Given the description of an element on the screen output the (x, y) to click on. 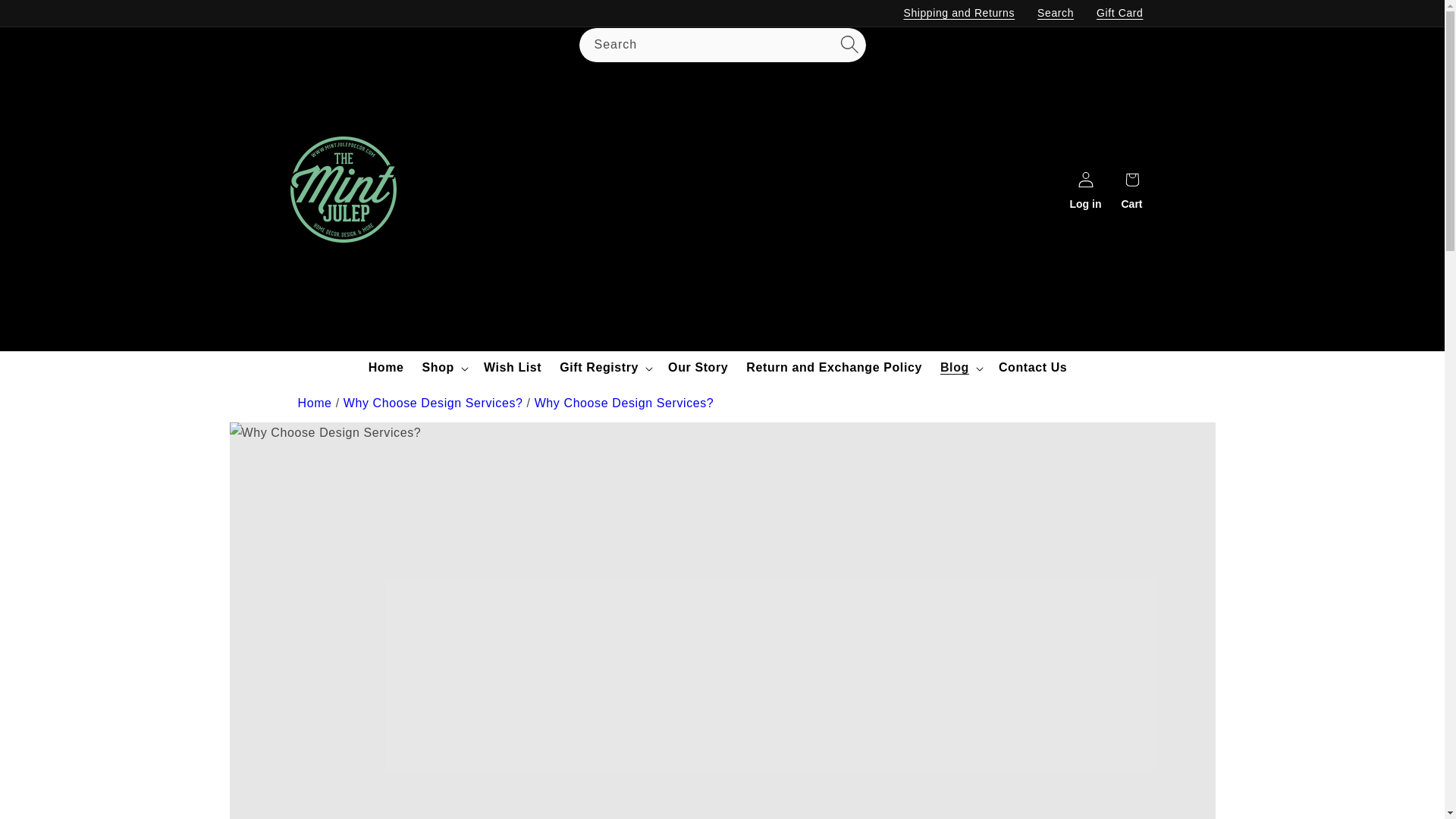
Gift Card (1119, 13)
Skip to content (45, 17)
Home (314, 402)
Search (1055, 13)
Shipping and Returns (958, 13)
